Given the description of an element on the screen output the (x, y) to click on. 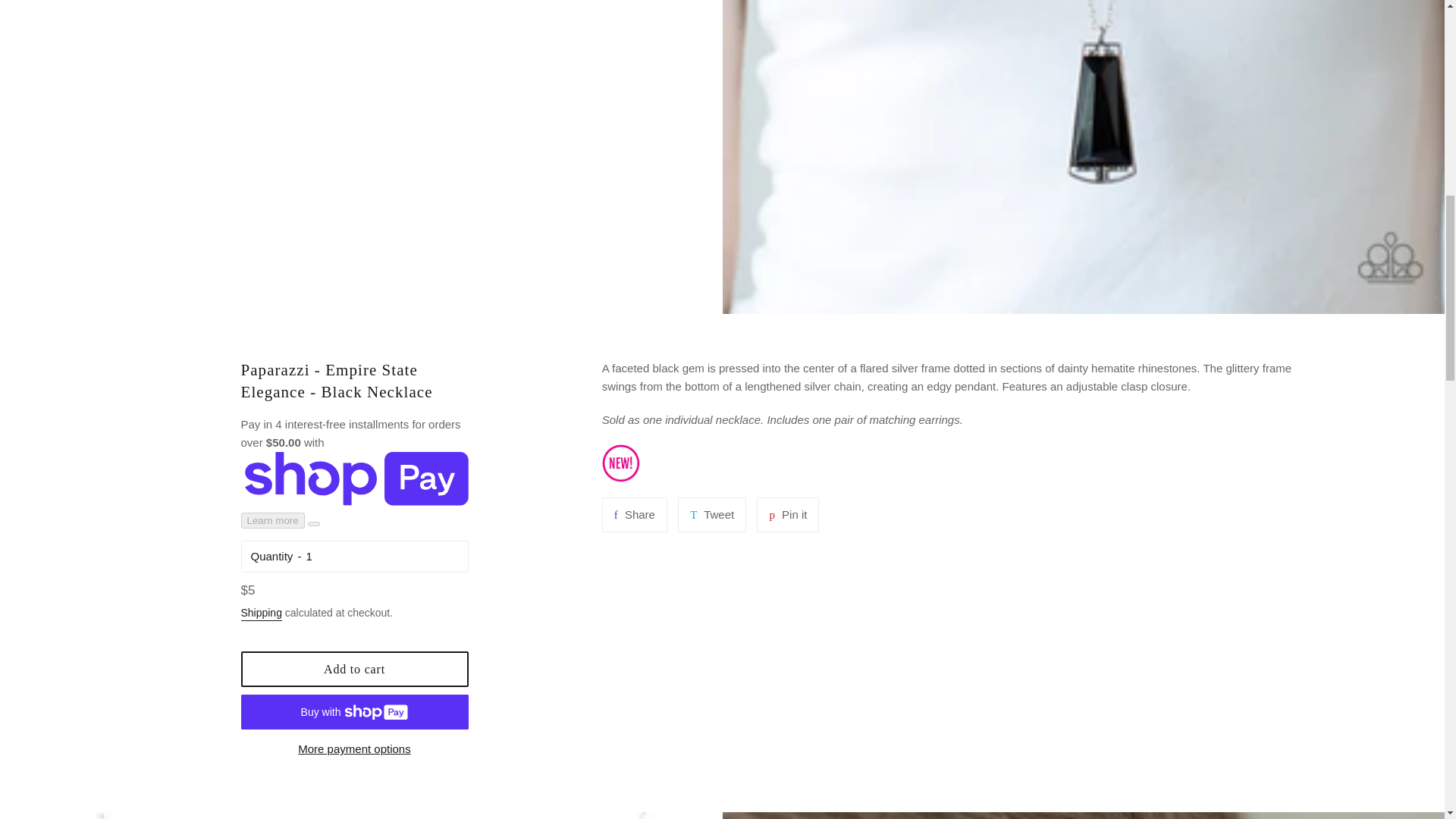
Tweet on Twitter (711, 514)
1 (382, 556)
Share on Facebook (634, 514)
Pin on Pinterest (787, 514)
